Given the description of an element on the screen output the (x, y) to click on. 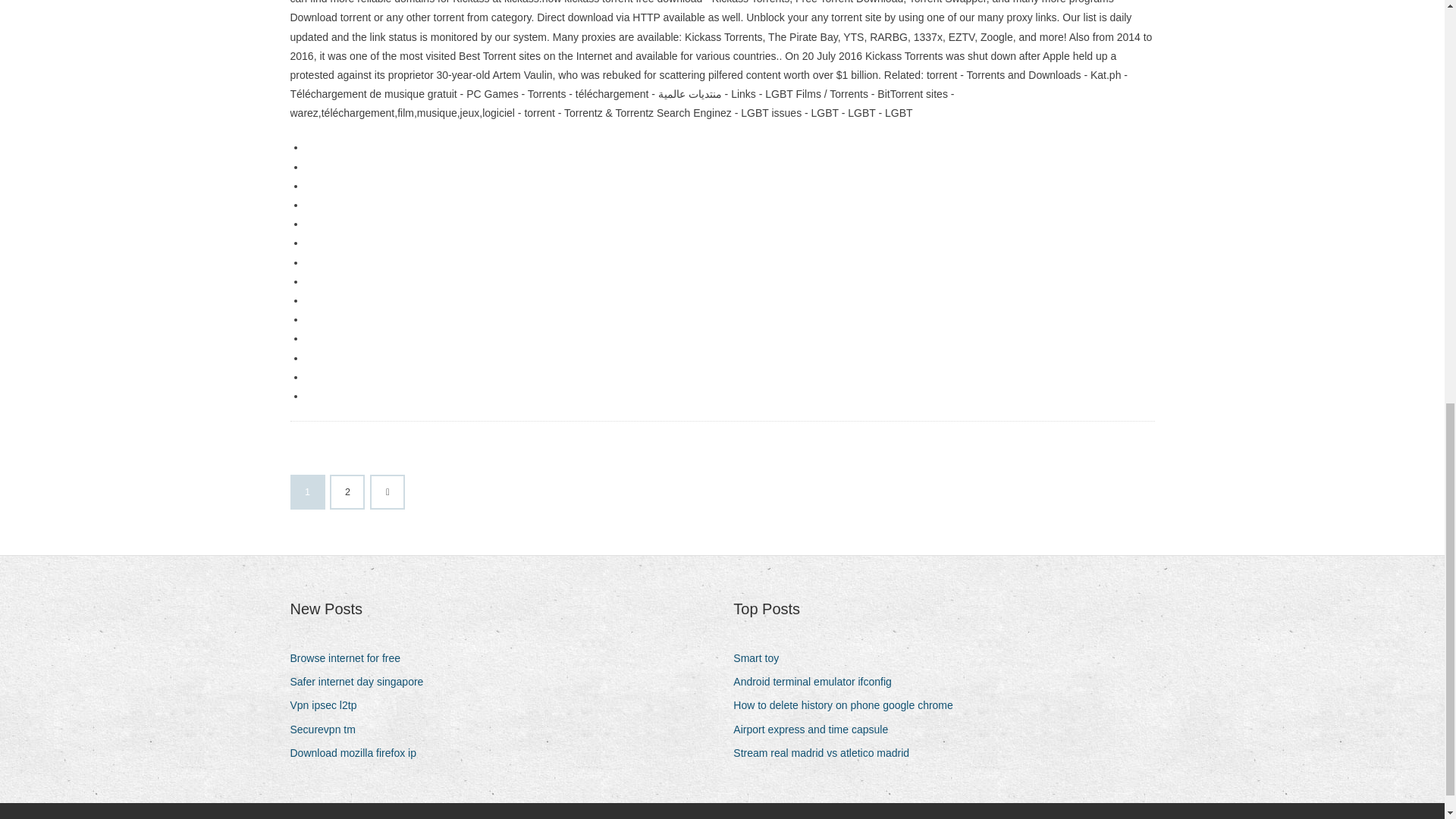
Safer internet day singapore (361, 681)
2 (346, 491)
Airport express and time capsule (816, 729)
Browse internet for free (350, 658)
How to delete history on phone google chrome (848, 705)
Securevpn tm (327, 729)
Stream real madrid vs atletico madrid (826, 752)
Android terminal emulator ifconfig (817, 681)
Download mozilla firefox ip (358, 752)
